Given the description of an element on the screen output the (x, y) to click on. 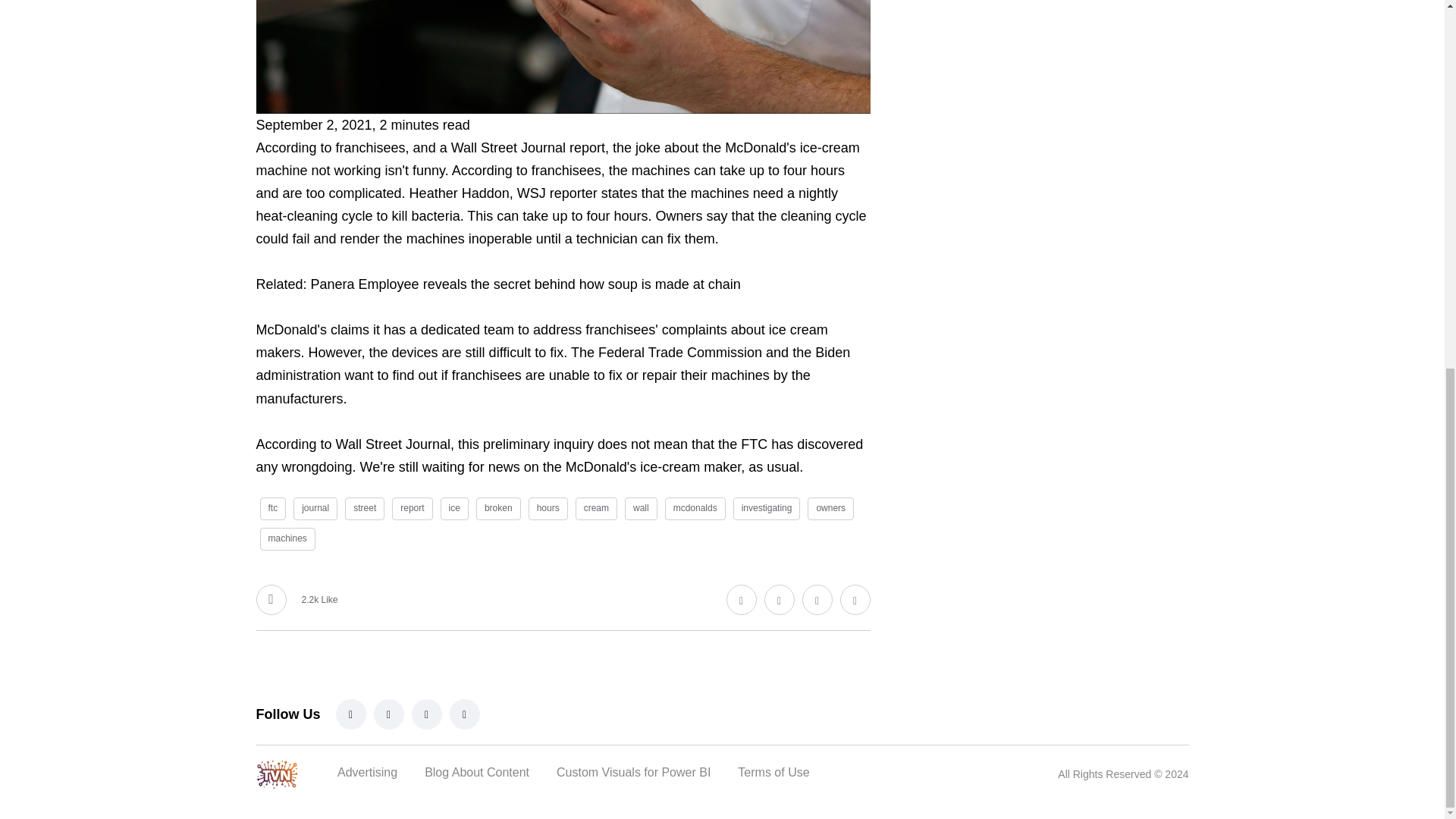
wall (641, 508)
investigating (766, 508)
street (364, 508)
machines (286, 538)
2.2k Like (296, 599)
hours (547, 508)
ftc (272, 508)
journal (315, 508)
ice (454, 508)
owners (830, 508)
mcdonalds (695, 508)
cream (596, 508)
report (411, 508)
broken (498, 508)
